Given the description of an element on the screen output the (x, y) to click on. 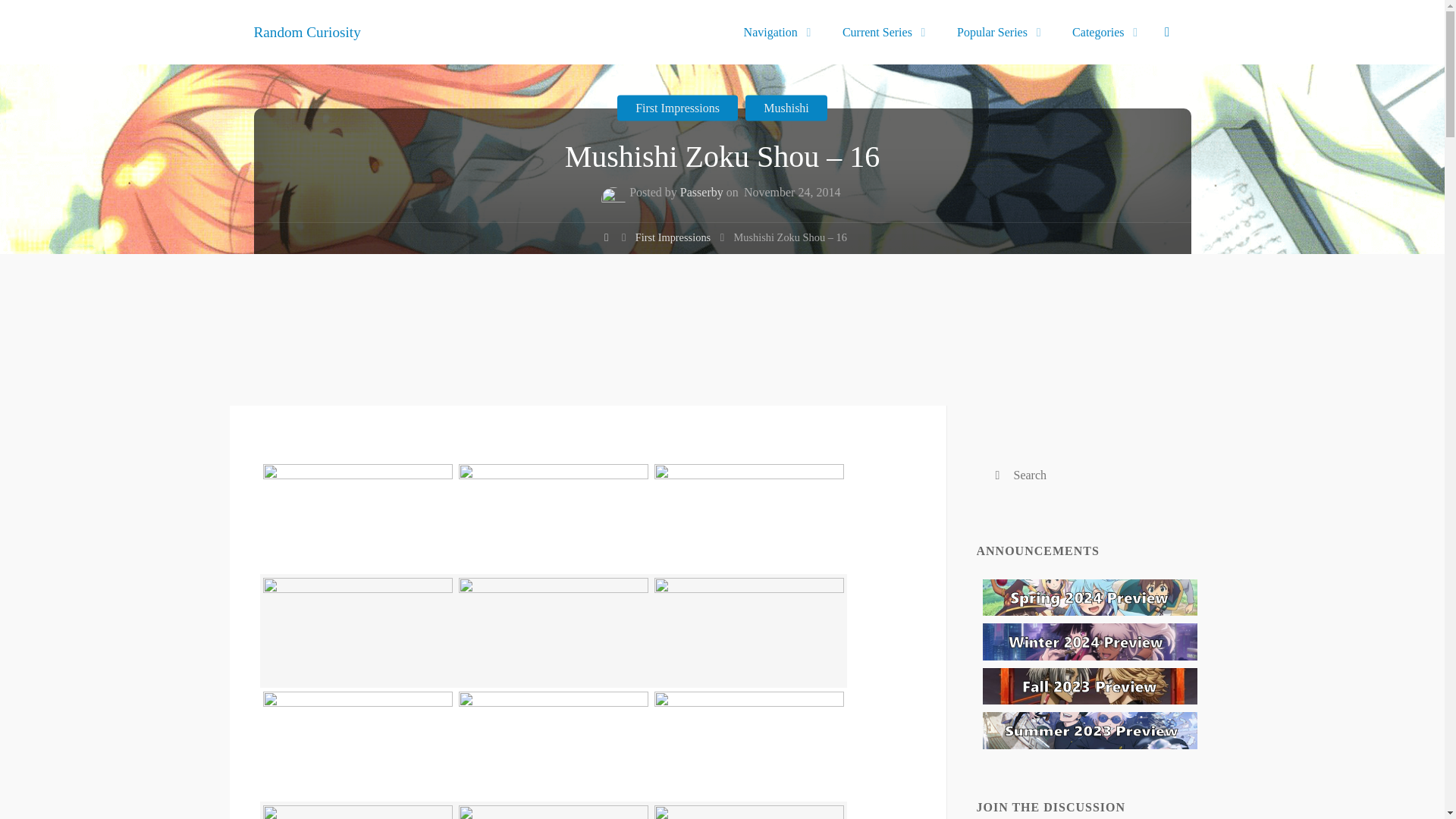
Navigation (772, 32)
Current Series (879, 32)
Home (605, 239)
Daily Anime Goodness (306, 31)
Random Curiosity (306, 31)
View all posts by Passerby (701, 194)
Advertisement (721, 364)
